Given the description of an element on the screen output the (x, y) to click on. 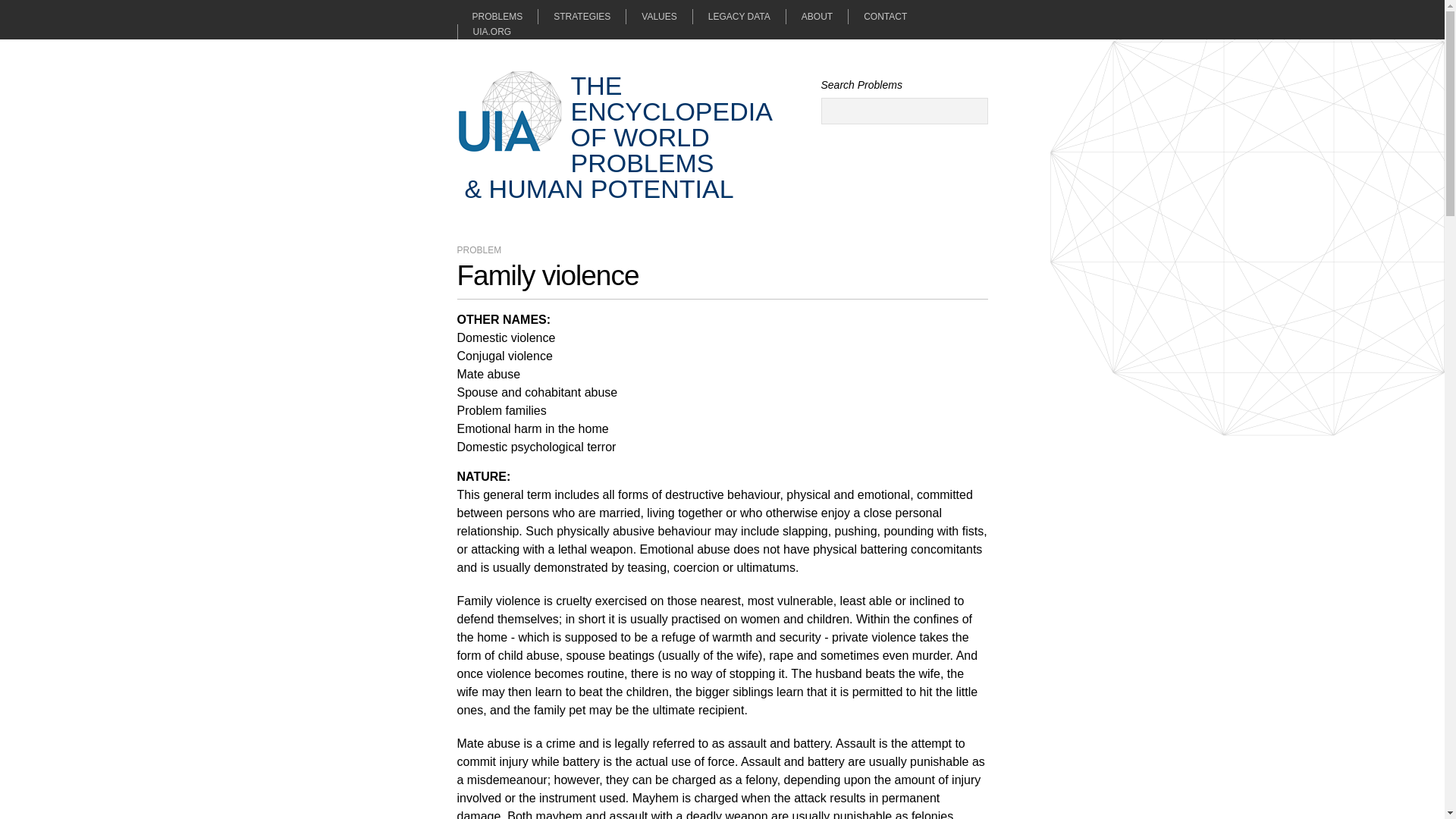
STRATEGIES (581, 16)
Home (509, 110)
Home (617, 135)
VALUES (658, 16)
ABOUT (816, 16)
UIA.ORG (484, 31)
LEGACY DATA (739, 16)
PROBLEMS (497, 16)
CONTACT (884, 16)
Contact us (884, 16)
